Given the description of an element on the screen output the (x, y) to click on. 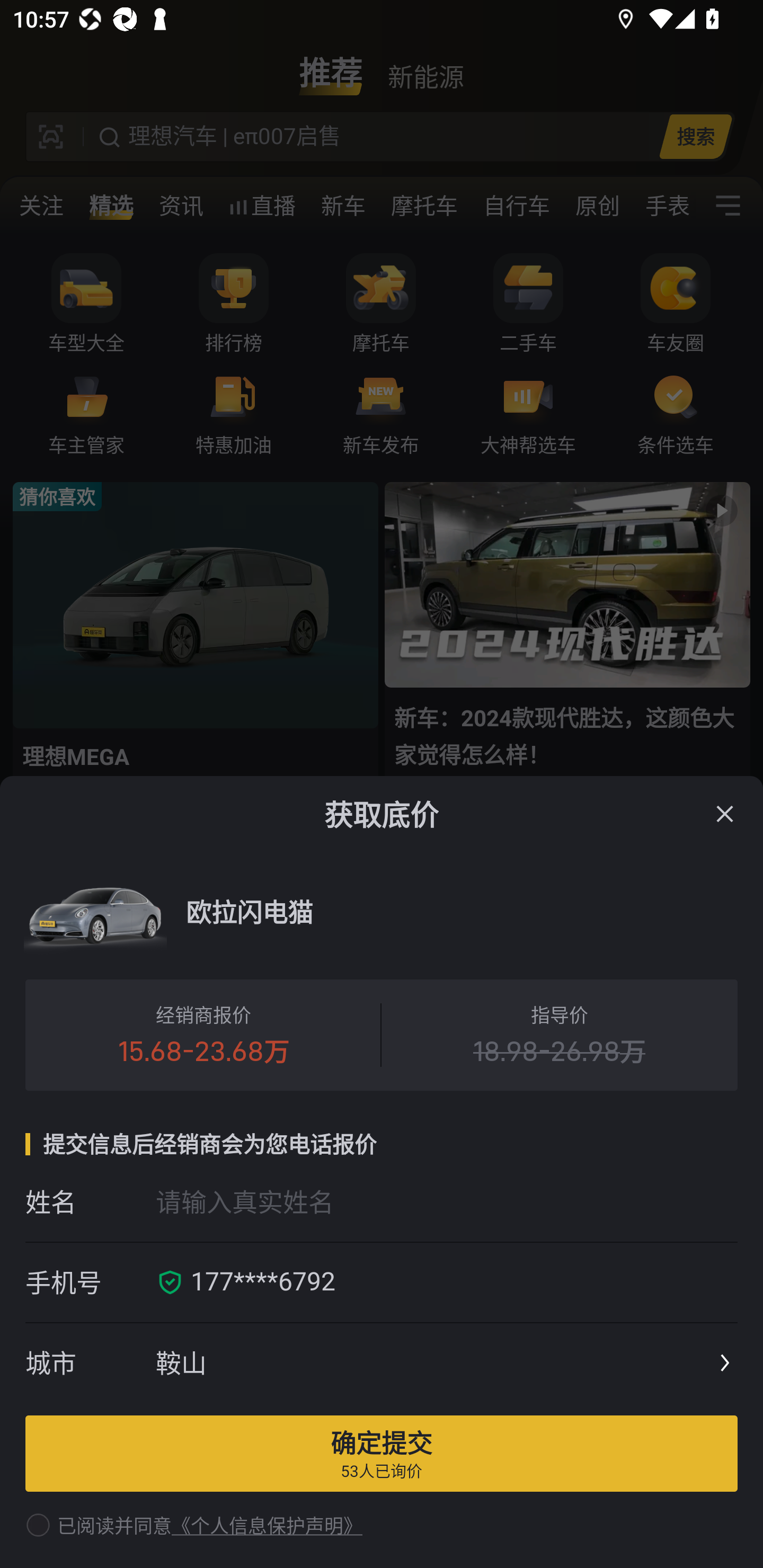
 (724, 813)
姓名 (90, 1201)
请输入真实姓名 (446, 1201)
手机号 (90, 1282)
177****6792 (457, 1282)
城市 鞍山  (381, 1363)
确定提交 53人已询价 (381, 1453)
